Given the description of an element on the screen output the (x, y) to click on. 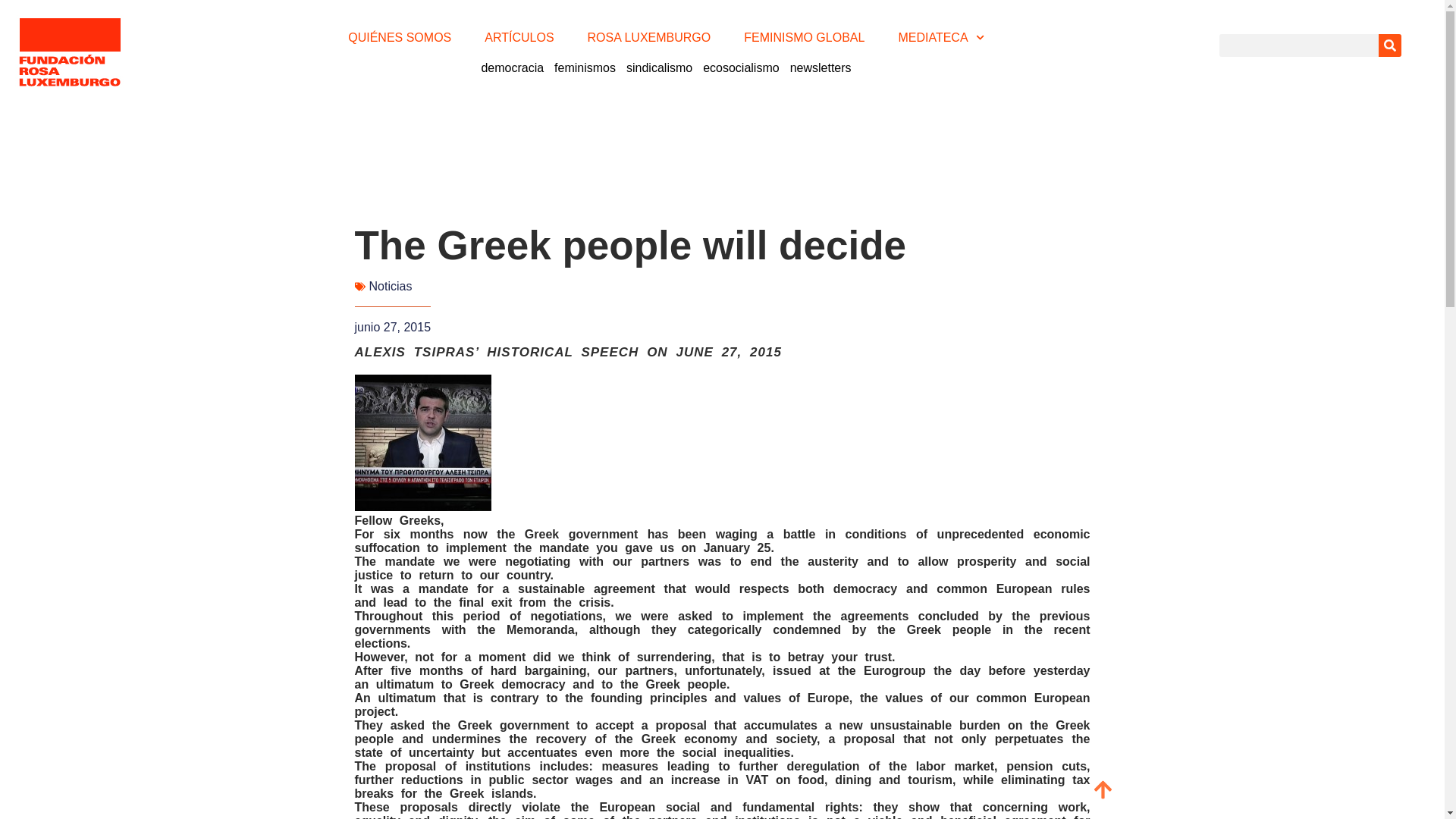
MEDIATECA (940, 37)
feminismos (584, 68)
ROSA LUXEMBURGO (649, 37)
newsletters (820, 68)
democracia (512, 68)
sindicalismo (659, 68)
ecosocialismo (740, 68)
FEMINISMO GLOBAL (803, 37)
